Given the description of an element on the screen output the (x, y) to click on. 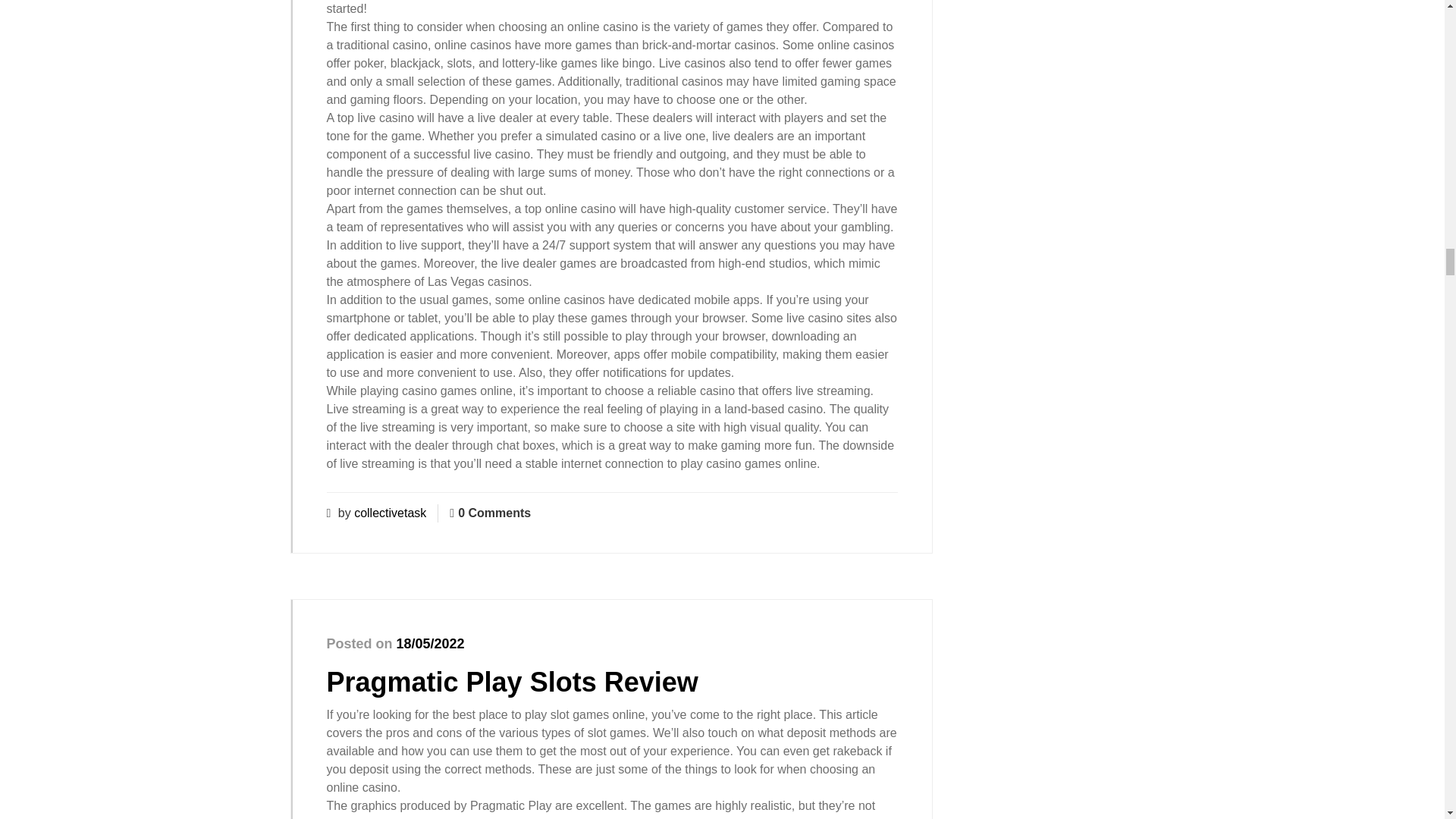
collectivetask (389, 512)
Pragmatic Play Slots Review (511, 681)
